Given the description of an element on the screen output the (x, y) to click on. 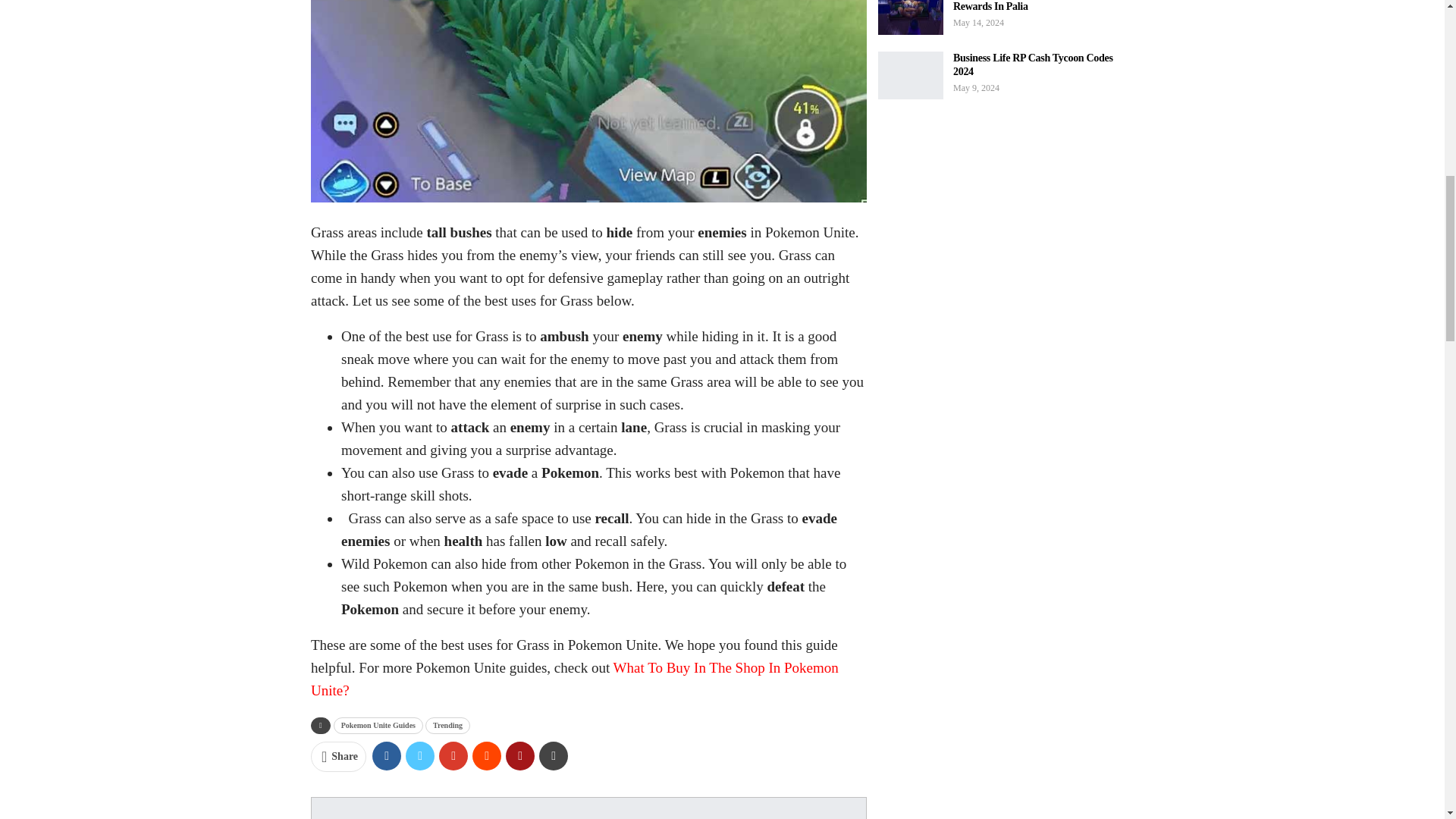
What To Buy In The Shop In Pokemon Unite? (574, 679)
Pokemon Unite Guides (378, 725)
How To Get Refer A Friend Program Rewards In Palia (910, 17)
Trending (447, 725)
Business Life RP Cash Tycoon Codes 2024 (910, 75)
